Given the description of an element on the screen output the (x, y) to click on. 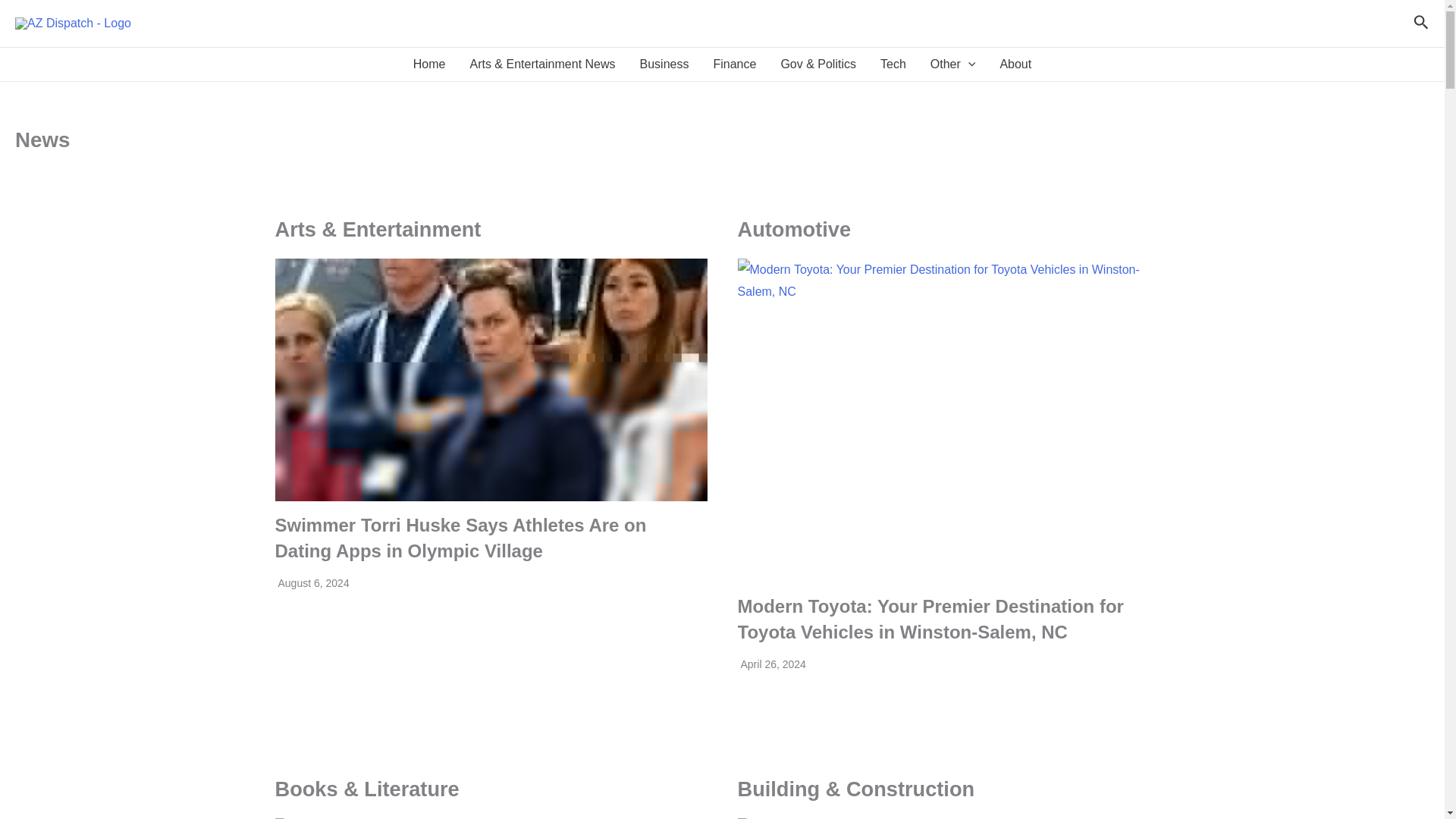
About (1015, 64)
Tech (892, 64)
Business (664, 64)
Home (429, 64)
Finance (734, 64)
Other (953, 64)
